Given the description of an element on the screen output the (x, y) to click on. 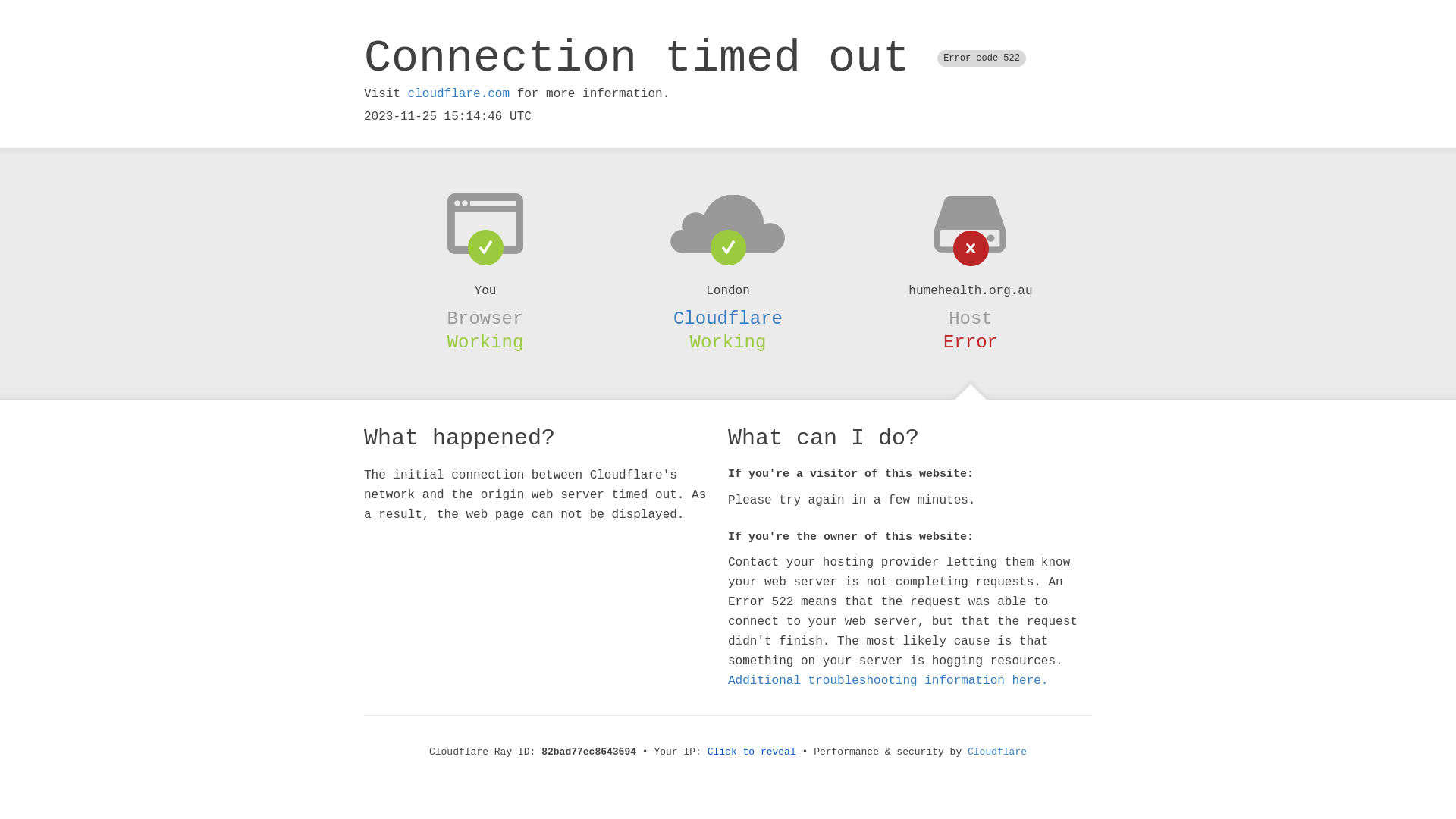
Additional troubleshooting information here. Element type: text (888, 680)
cloudflare.com Element type: text (458, 93)
Cloudflare Element type: text (996, 751)
Cloudflare Element type: text (727, 318)
Click to reveal Element type: text (751, 751)
